Given the description of an element on the screen output the (x, y) to click on. 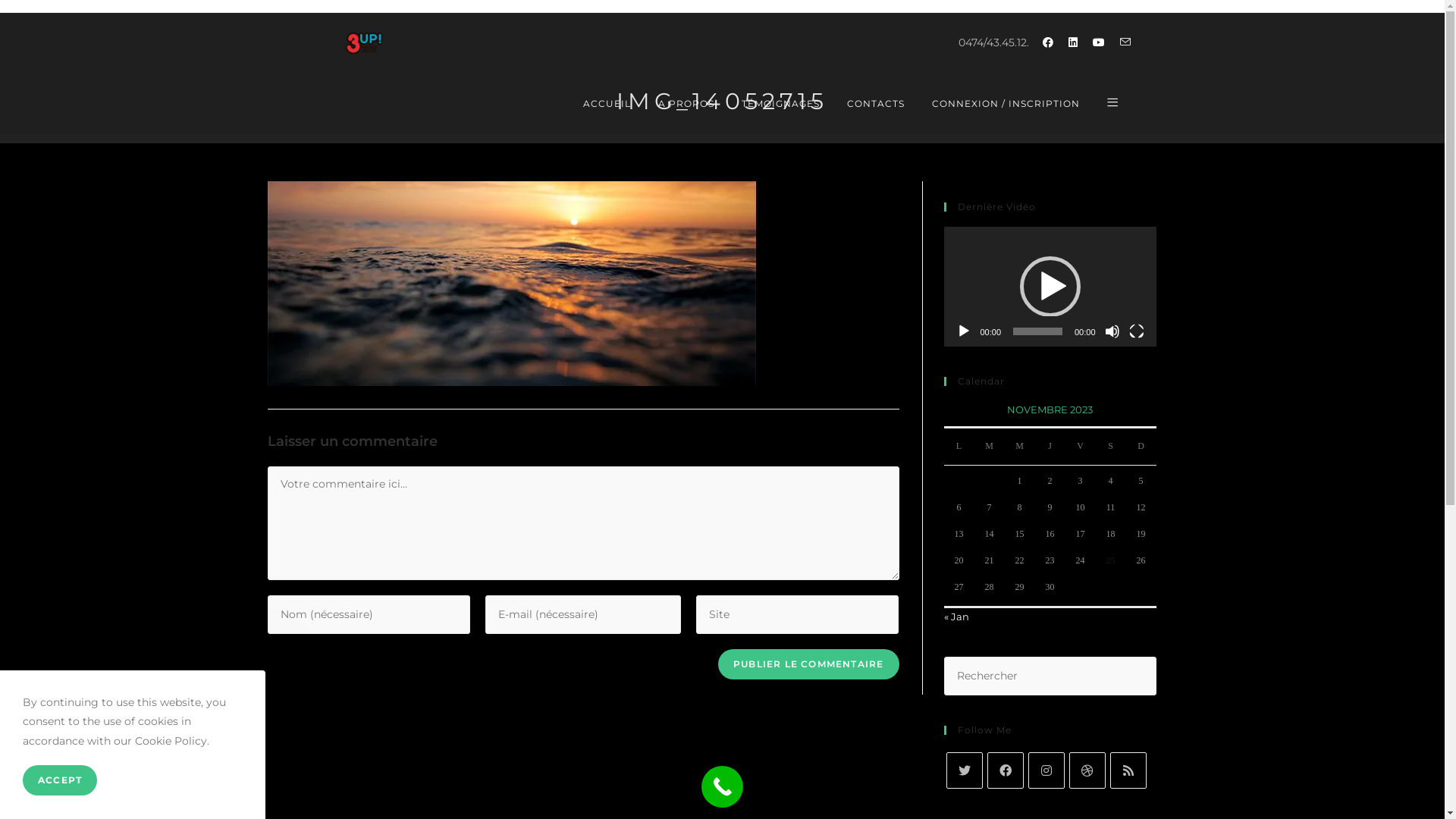
ACCUEIL Element type: text (605, 103)
CONNEXION / INSCRIPTION Element type: text (1004, 103)
A PROPOS Element type: text (686, 103)
Lecture Element type: hover (962, 330)
CONTACTS Element type: text (874, 103)
Publier le commentaire Element type: text (808, 664)
ACCEPT Element type: text (59, 780)
Muet Element type: hover (1111, 330)
